Given the description of an element on the screen output the (x, y) to click on. 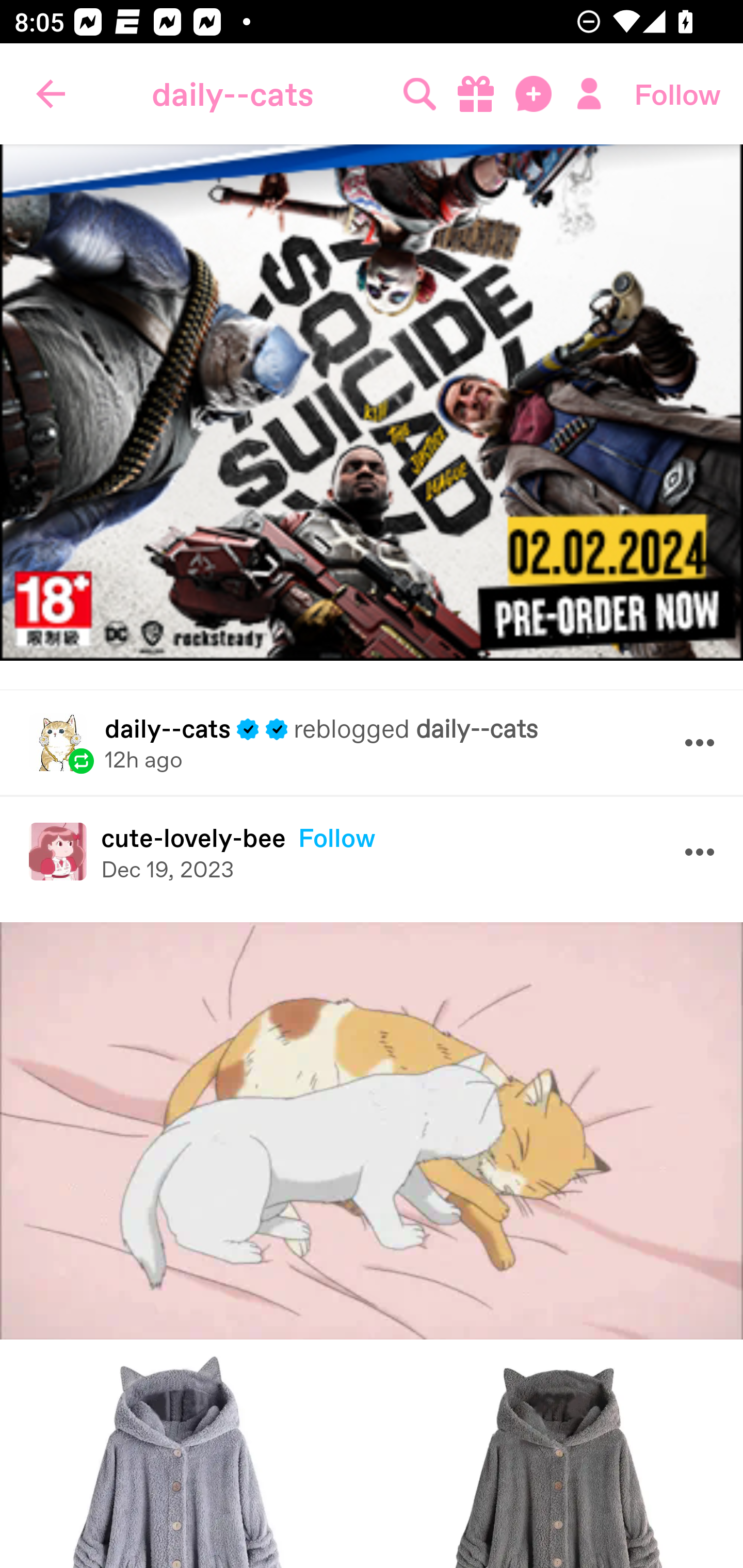
Navigate up (50, 93)
Messages (535, 93)
Follow (677, 93)
